Given the description of an element on the screen output the (x, y) to click on. 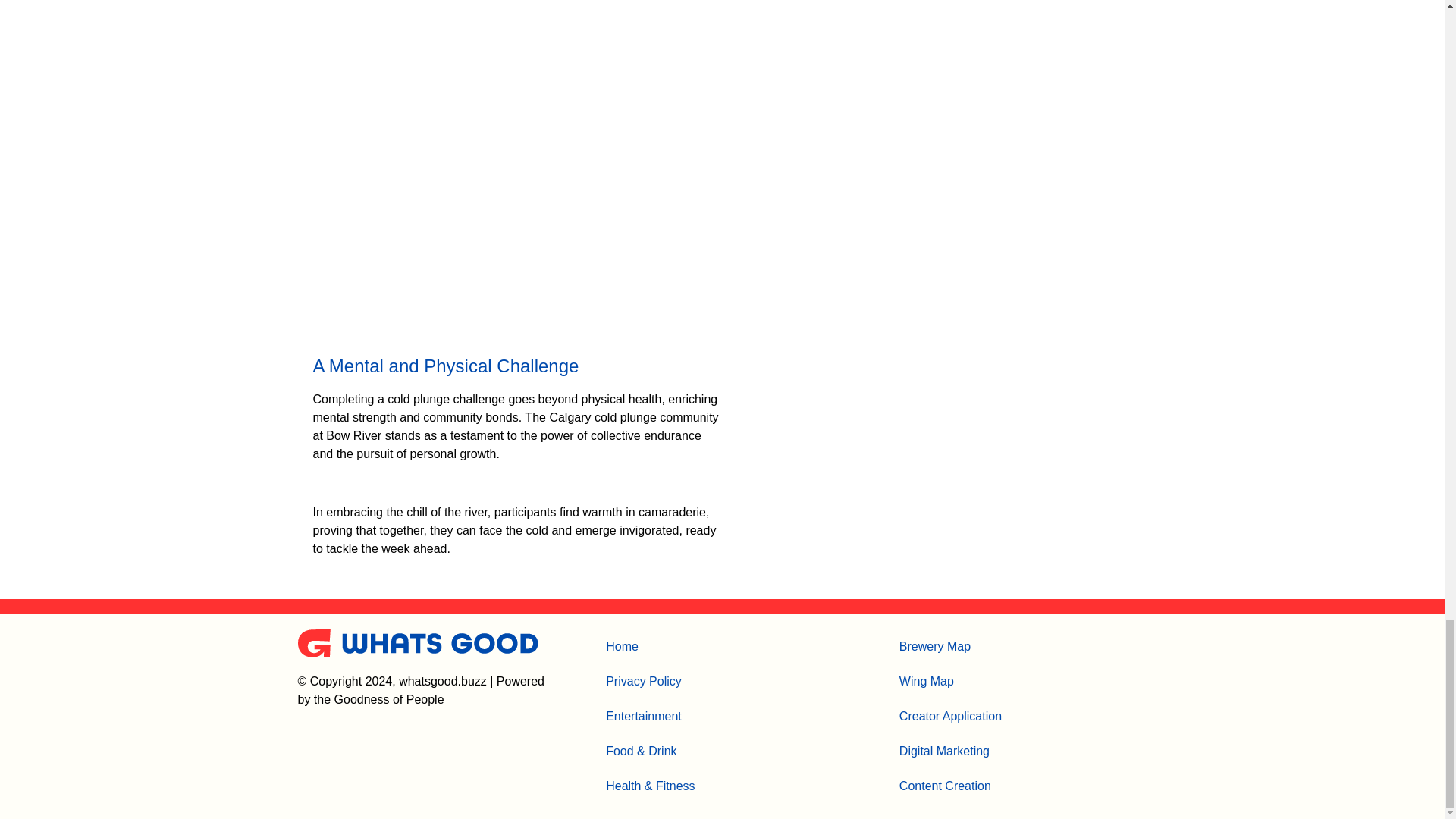
Privacy Policy (650, 681)
Entertainment (650, 716)
Home (650, 646)
